Given the description of an element on the screen output the (x, y) to click on. 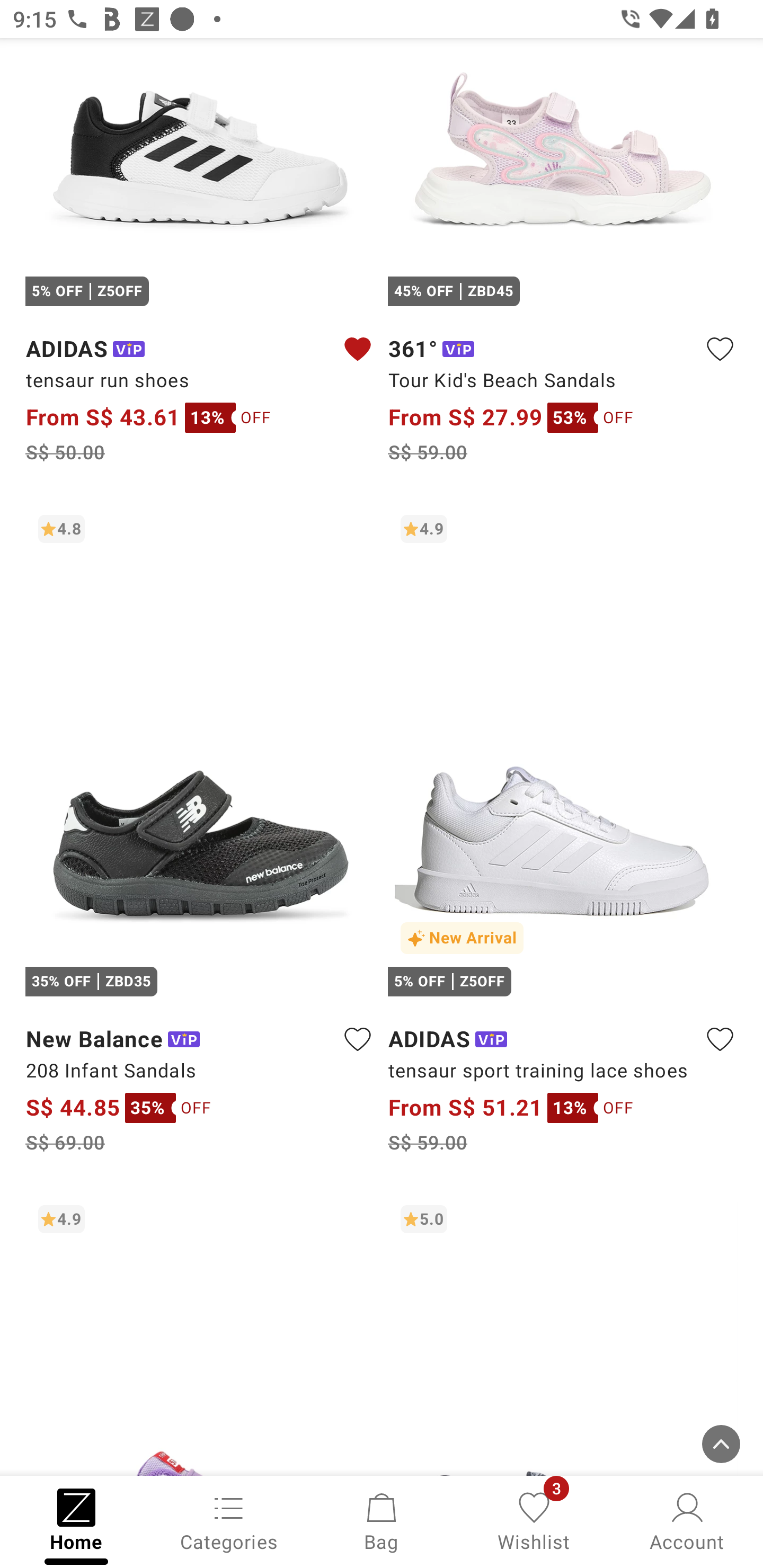
Categories (228, 1519)
Bag (381, 1519)
Wishlist, 3 new notifications Wishlist (533, 1519)
Account (686, 1519)
